Given the description of an element on the screen output the (x, y) to click on. 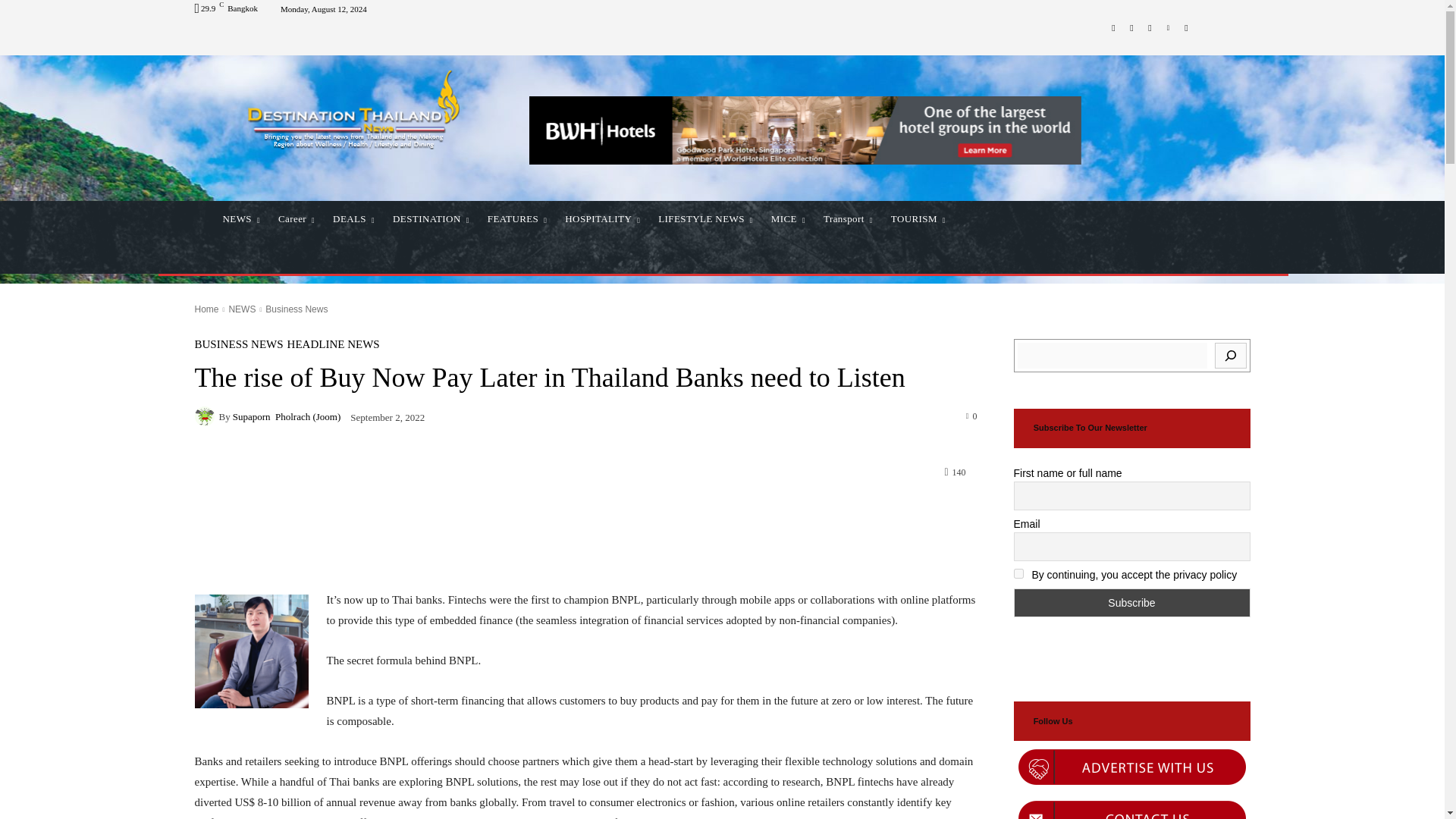
Twitter (1149, 27)
View all posts in NEWS (242, 308)
on (1018, 573)
Vimeo (1167, 27)
View all posts in Business News (295, 308)
Facebook (1112, 27)
Instagram (1131, 27)
Youtube (1185, 27)
Subscribe (1131, 602)
